Given the description of an element on the screen output the (x, y) to click on. 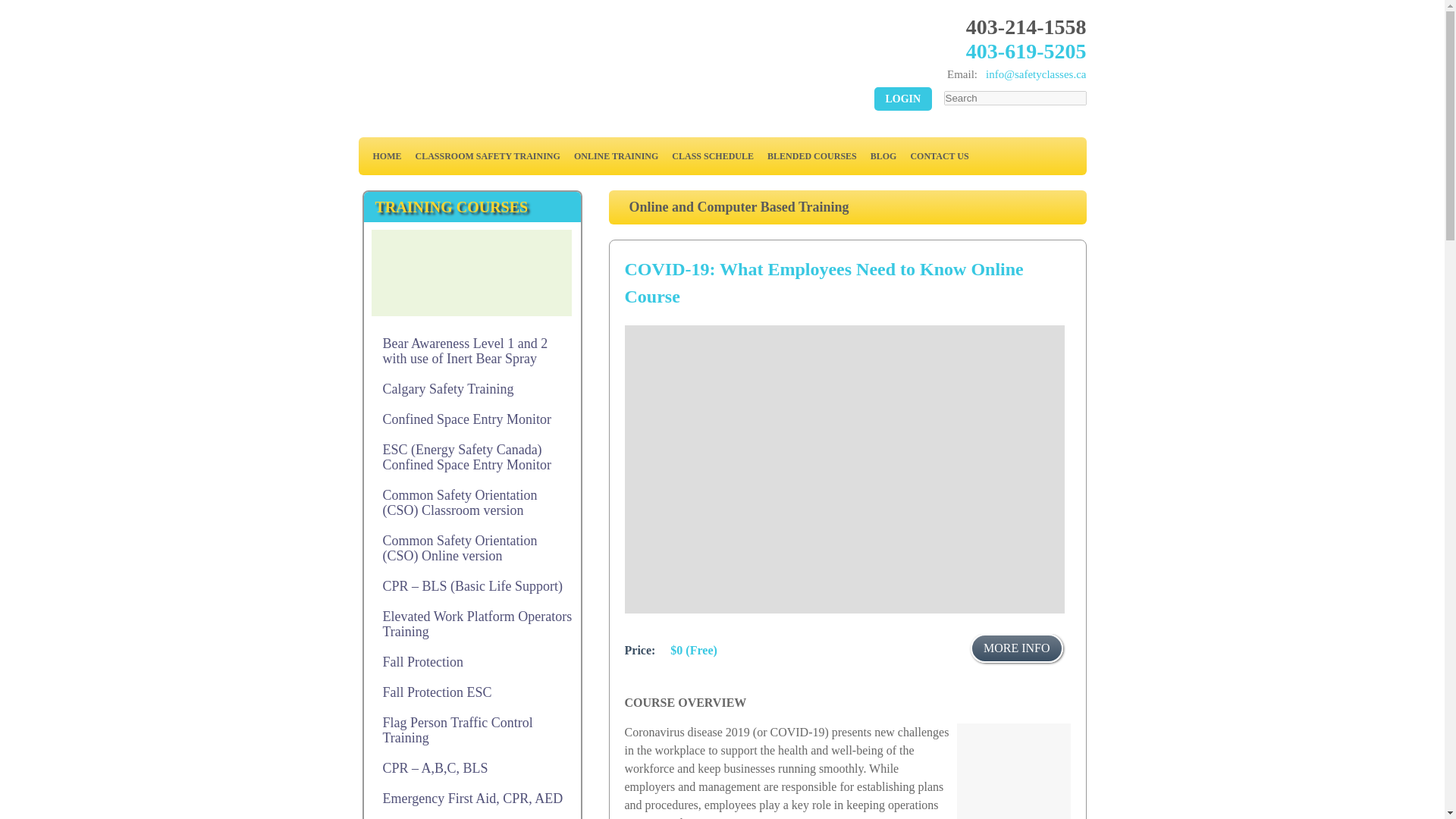
MORE INFO (1016, 647)
CLASSROOM SAFETY TRAINING (486, 155)
Elevated Work Platform Operators Training (472, 624)
Fall Protection ESC (472, 692)
BLENDED COURSES (811, 155)
CLASS SCHEDULE (712, 155)
Calgary Safety Training (472, 388)
Confined Space Entry Monitor (472, 419)
BLOG (883, 155)
CONTACT US (938, 155)
LOGIN (902, 98)
HOME (386, 155)
Emergency First Aid, CPR, AED (472, 798)
Bear Awareness Level 1 and 2 with use of Inert Bear Spray (472, 350)
Standard First Aid (472, 816)
